Given the description of an element on the screen output the (x, y) to click on. 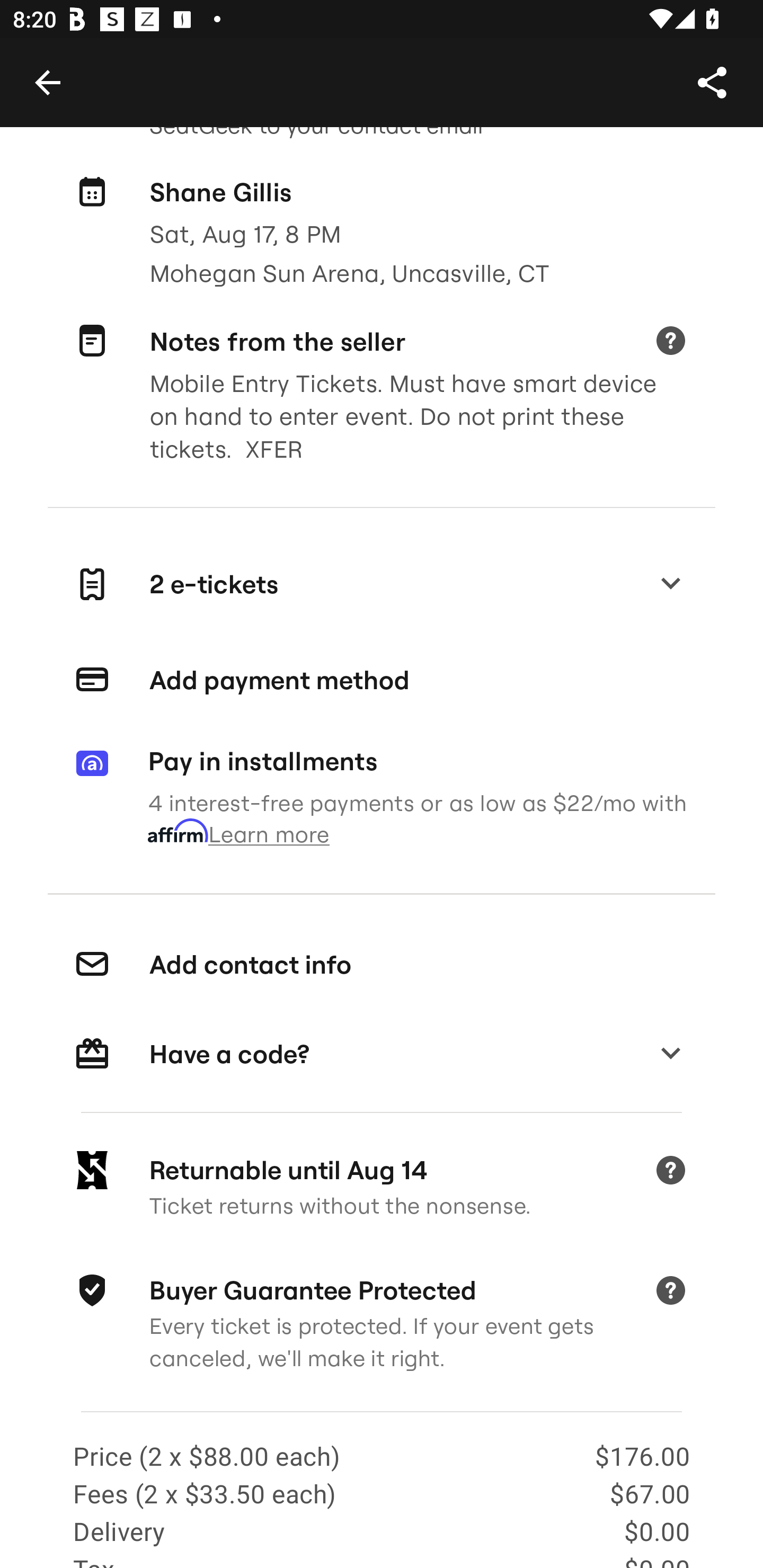
Expand image to fullscreen (57, 69)
Share (711, 81)
Learn more (670, 342)
2 e-tickets Expand to show options (381, 584)
Add payment method (381, 679)
Add contact info (381, 964)
Have a code? Expand to show options (381, 1054)
